Given the description of an element on the screen output the (x, y) to click on. 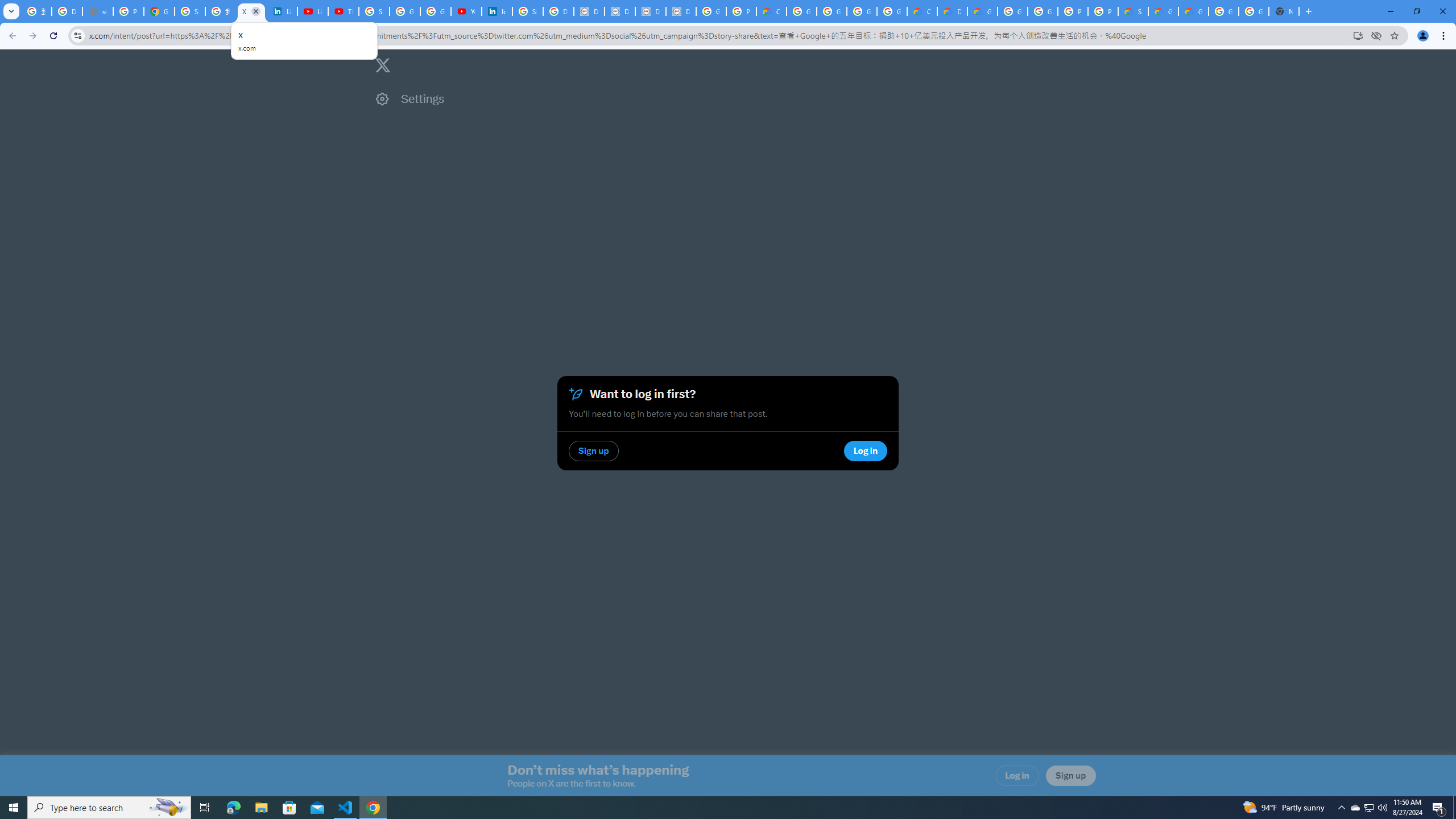
Gemini for Business and Developers | Google Cloud (982, 11)
Data Privacy Framework (650, 11)
X (251, 11)
